Given the description of an element on the screen output the (x, y) to click on. 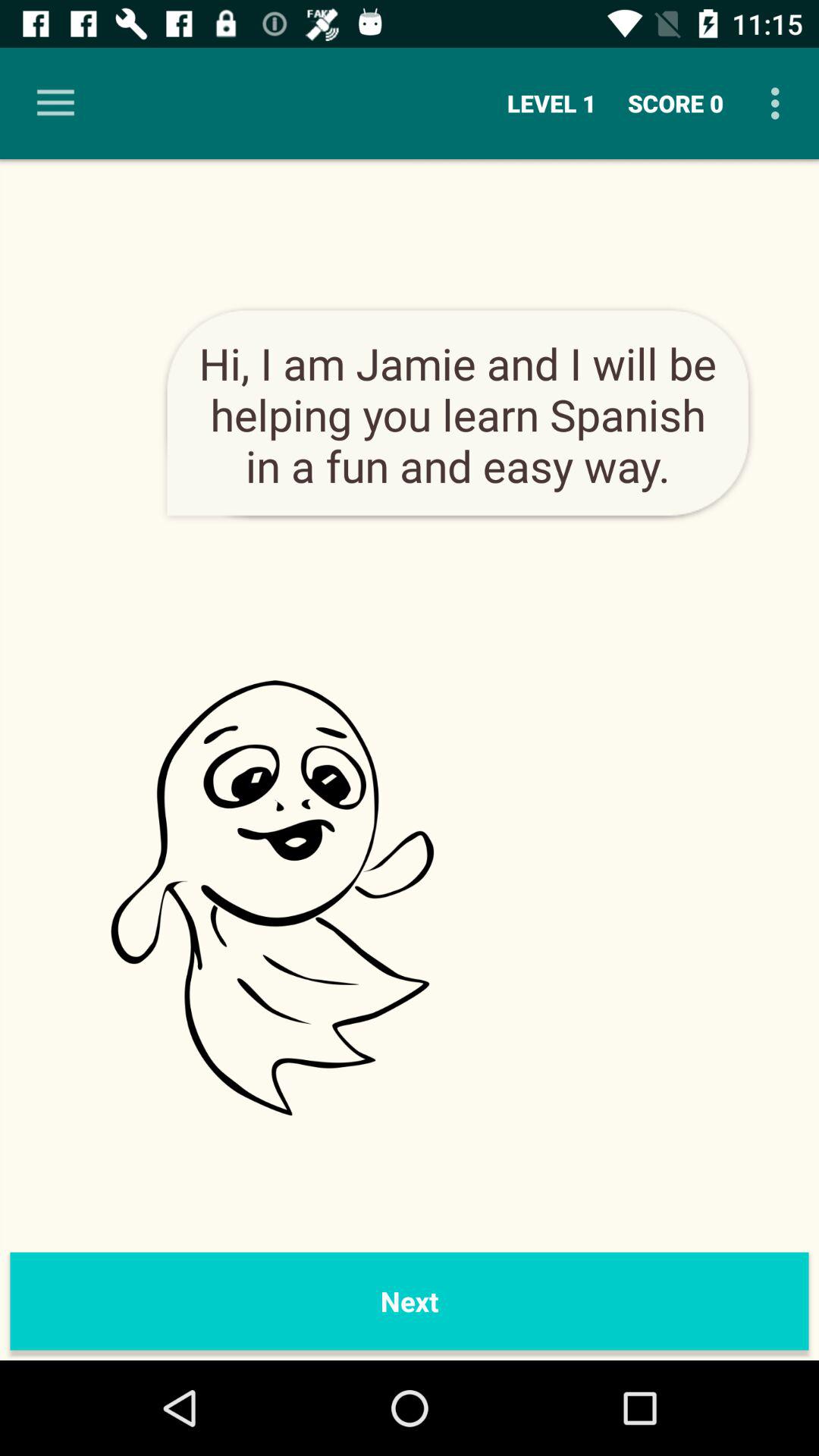
flip until score 0 (675, 103)
